Given the description of an element on the screen output the (x, y) to click on. 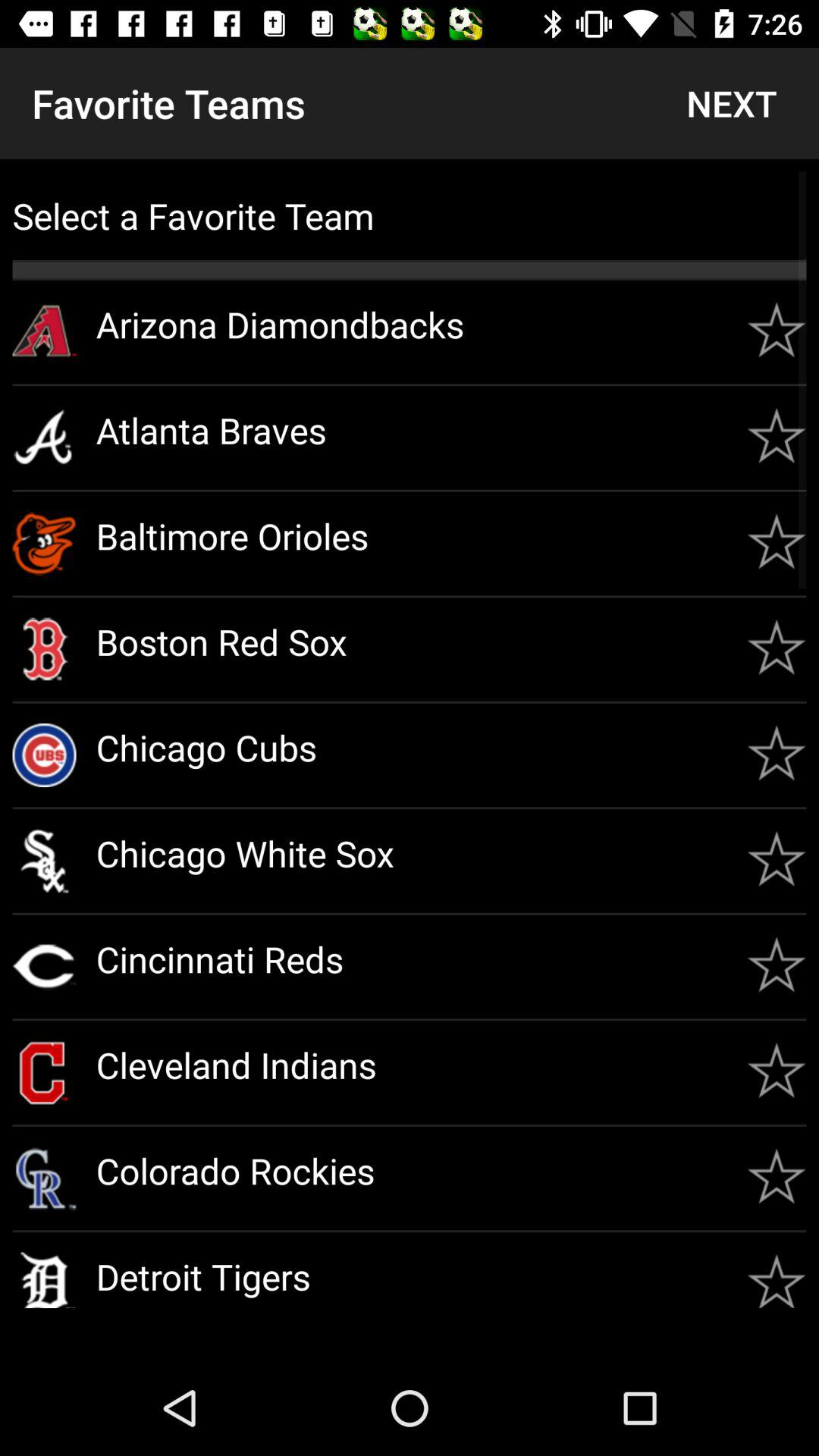
tap the icon next to favorite teams (731, 103)
